Given the description of an element on the screen output the (x, y) to click on. 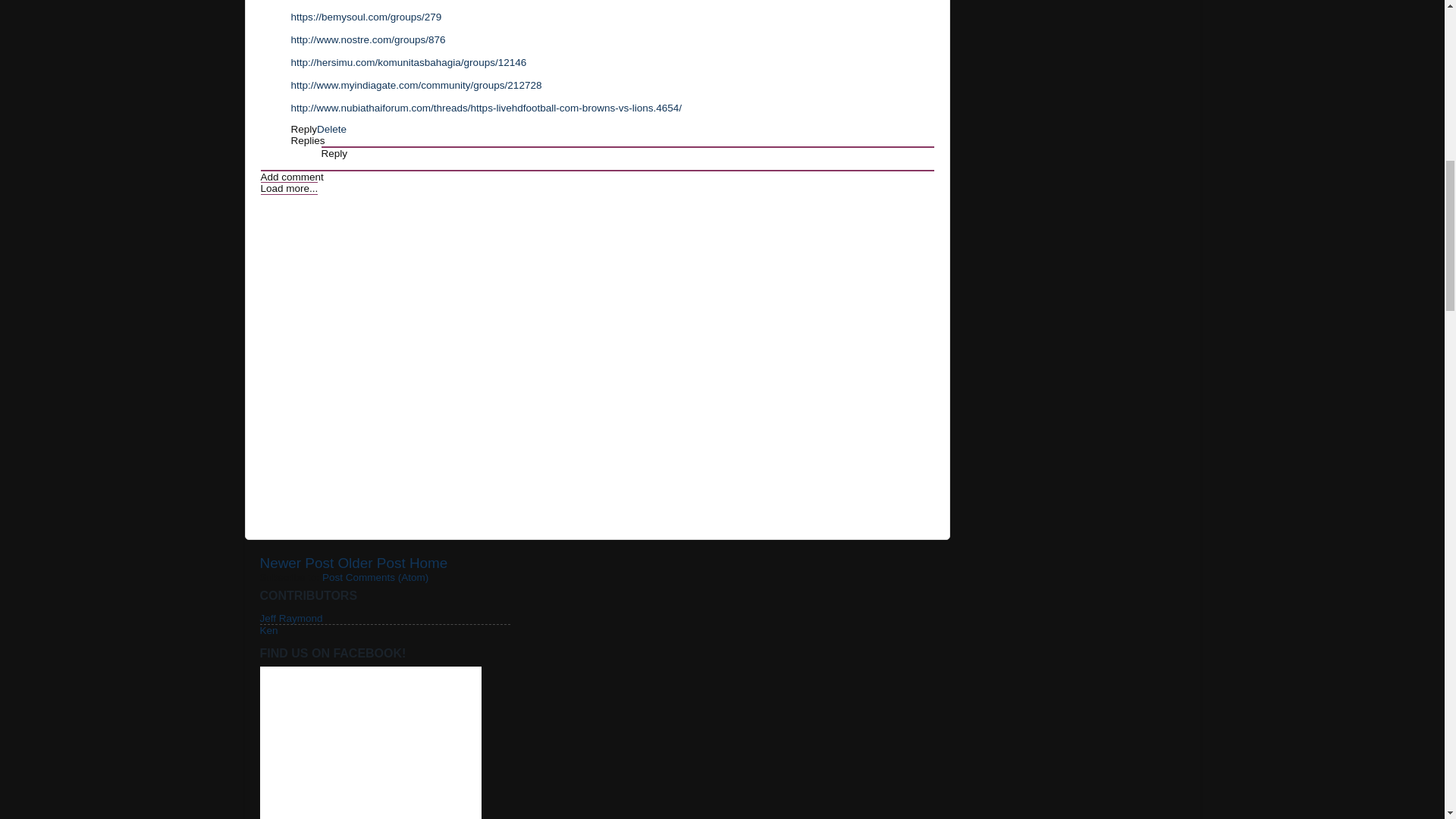
Add comment (291, 176)
Home (427, 562)
Replies (307, 140)
Load more... (289, 187)
Newer Post (296, 562)
Older Post (370, 562)
Reply (334, 153)
Older Post (370, 562)
Delete (331, 129)
Newer Post (296, 562)
Reply (304, 129)
